Given the description of an element on the screen output the (x, y) to click on. 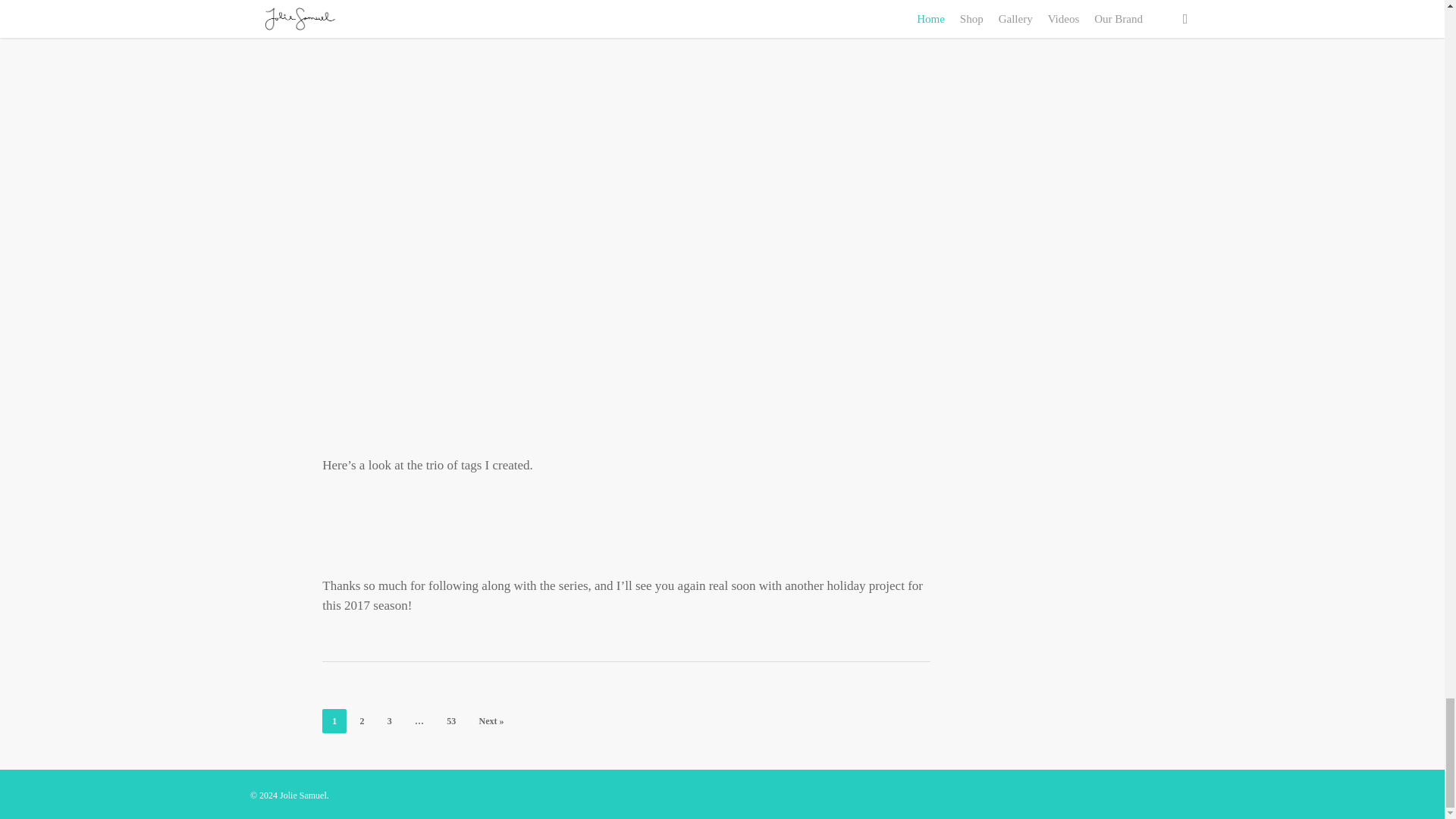
3 (389, 721)
53 (450, 721)
2 (362, 721)
